Given the description of an element on the screen output the (x, y) to click on. 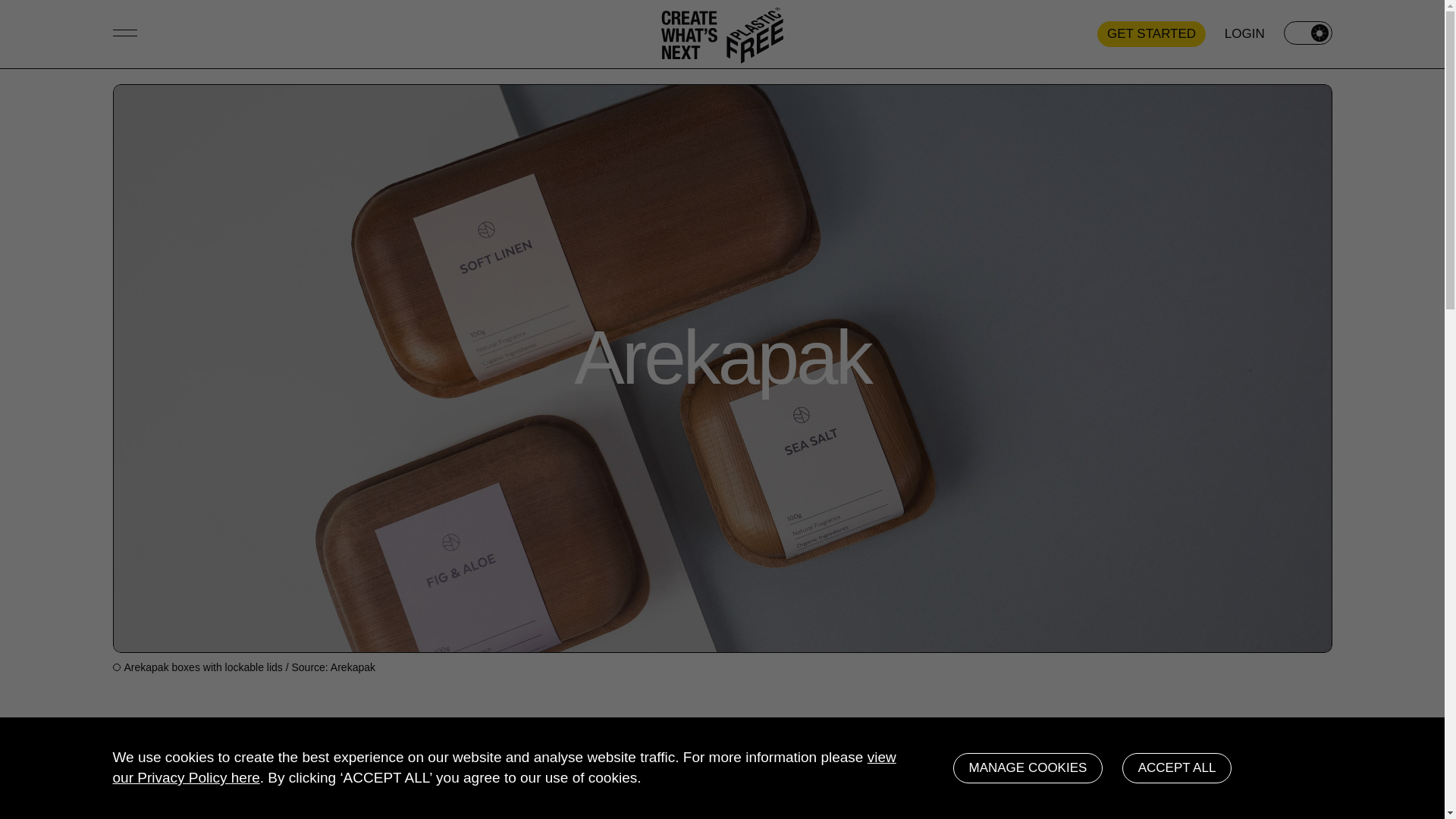
LOGIN (1244, 34)
view our Privacy Policy here (503, 767)
GET STARTED (1151, 33)
MANAGE COOKIES (1027, 767)
